Given the description of an element on the screen output the (x, y) to click on. 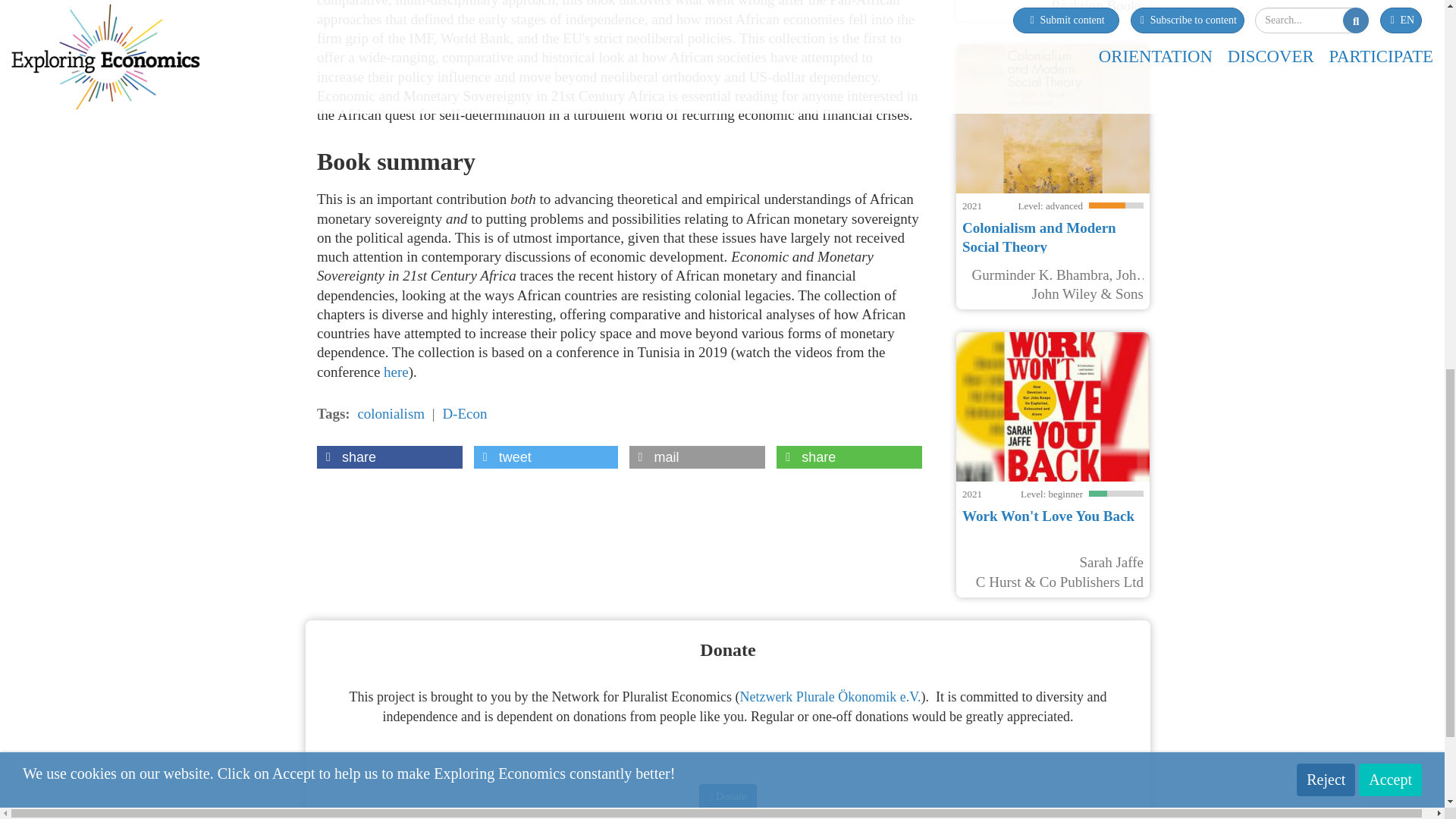
tweet (545, 456)
Send by email (696, 456)
Share on Twitter (545, 456)
mail (696, 456)
Share on Facebook (390, 456)
D-Econ (464, 413)
colonialism (390, 413)
Share on Whatsapp (848, 456)
share (390, 456)
here (396, 371)
